Given the description of an element on the screen output the (x, y) to click on. 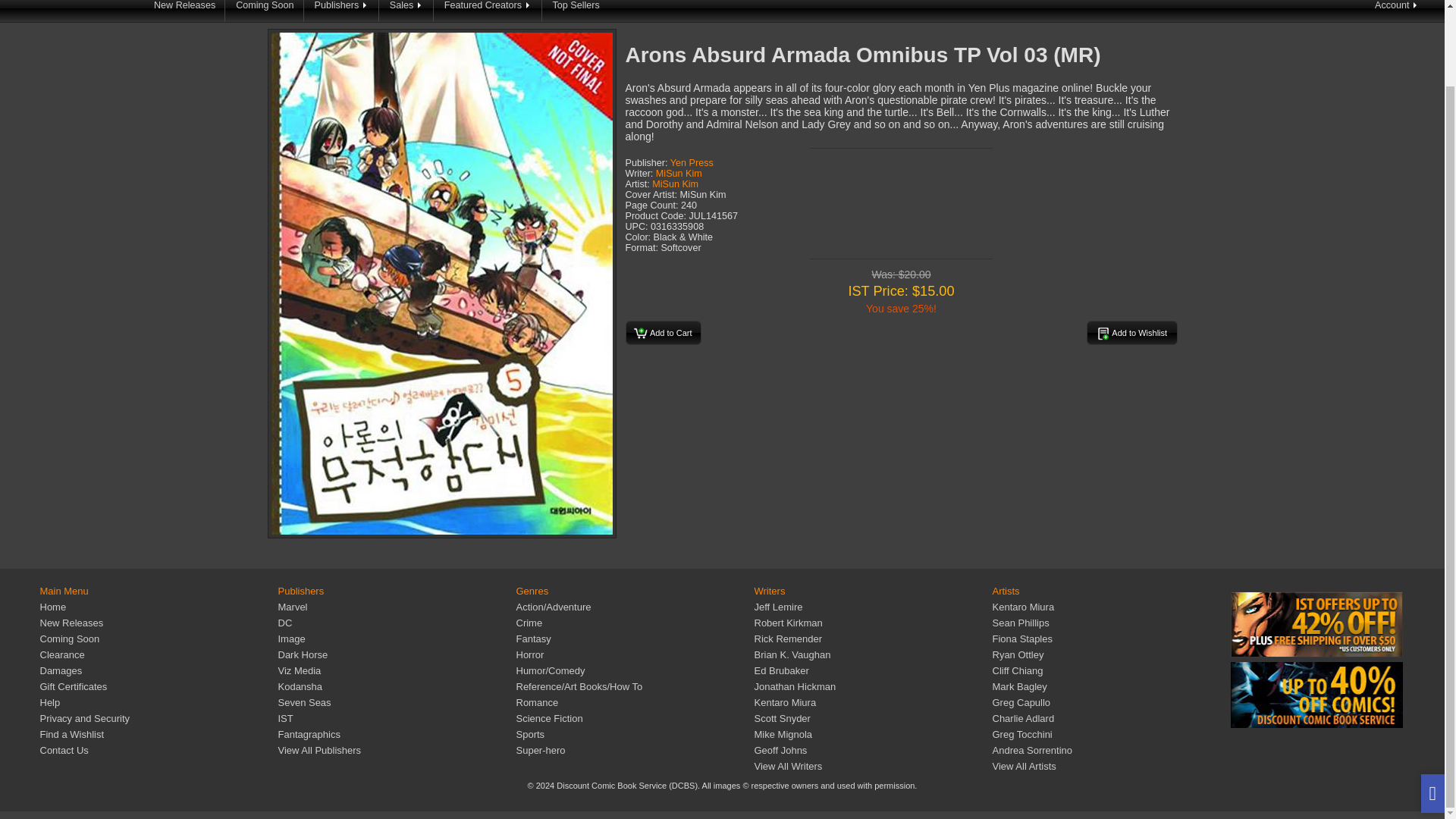
Top Sellers (575, 11)
MiSun Kim (678, 173)
MiSun Kim (675, 184)
Coming Soon (264, 11)
Add to Cart (662, 331)
New Releases (184, 11)
Add to Wishlist (1131, 331)
Home (52, 606)
Yen Press (691, 163)
Account (1396, 11)
Publishers (341, 11)
Coming Soon (69, 638)
New Releases (71, 622)
Sales (406, 11)
Featured Creators (488, 11)
